Given the description of an element on the screen output the (x, y) to click on. 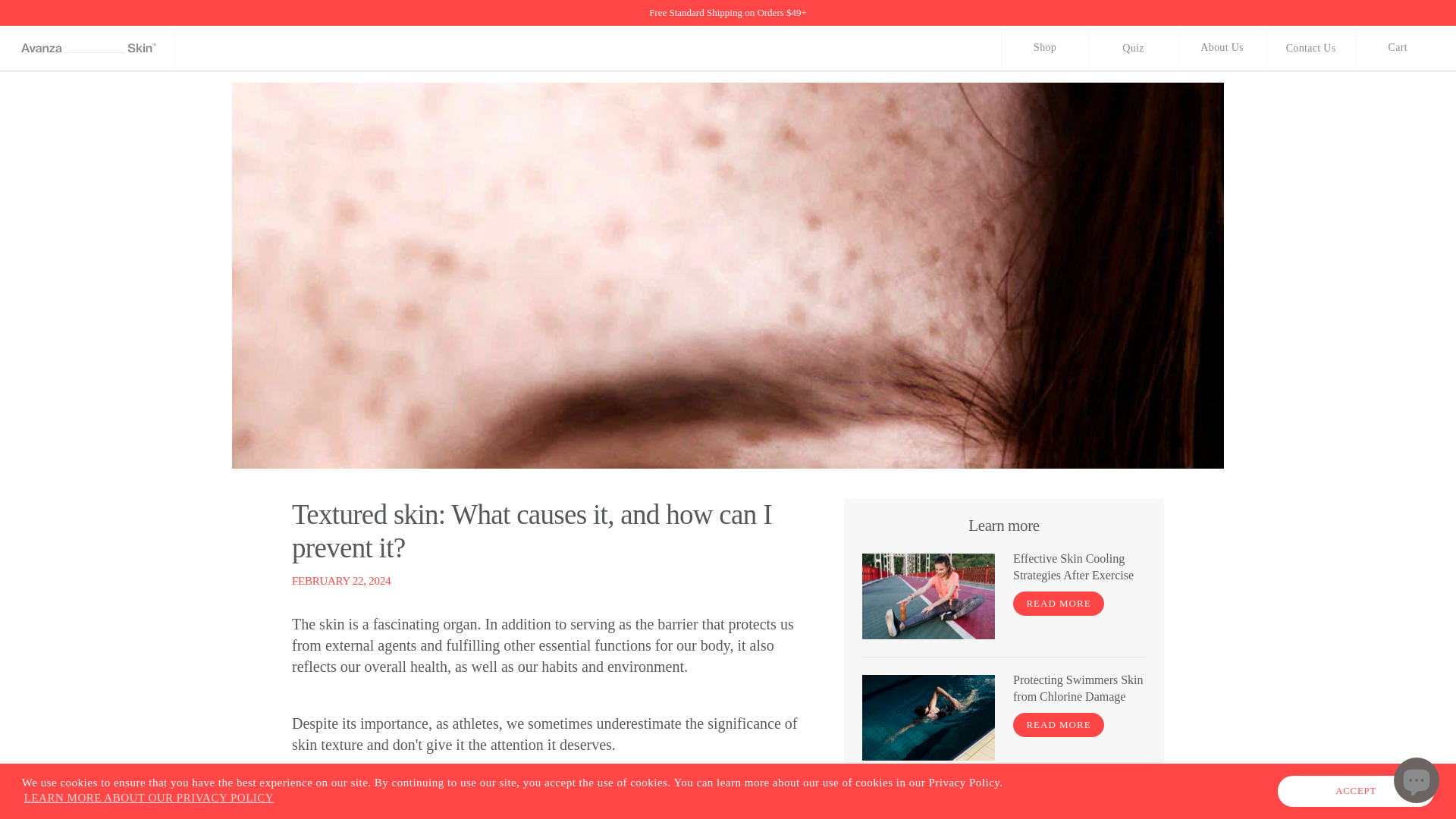
Effective Skin Cooling Strategies After Exercise (1079, 566)
READ MORE (1058, 603)
LEARN MORE ABOUT OUR PRIVACY POLICY (148, 796)
Group 25 Created with Sketch. (88, 47)
Group 25 Created with Sketch. (88, 47)
Contact Us (1310, 47)
Cart (1410, 47)
Shopify online store chat (1416, 781)
About Us (1221, 47)
ACCEPT (1356, 790)
